Given the description of an element on the screen output the (x, y) to click on. 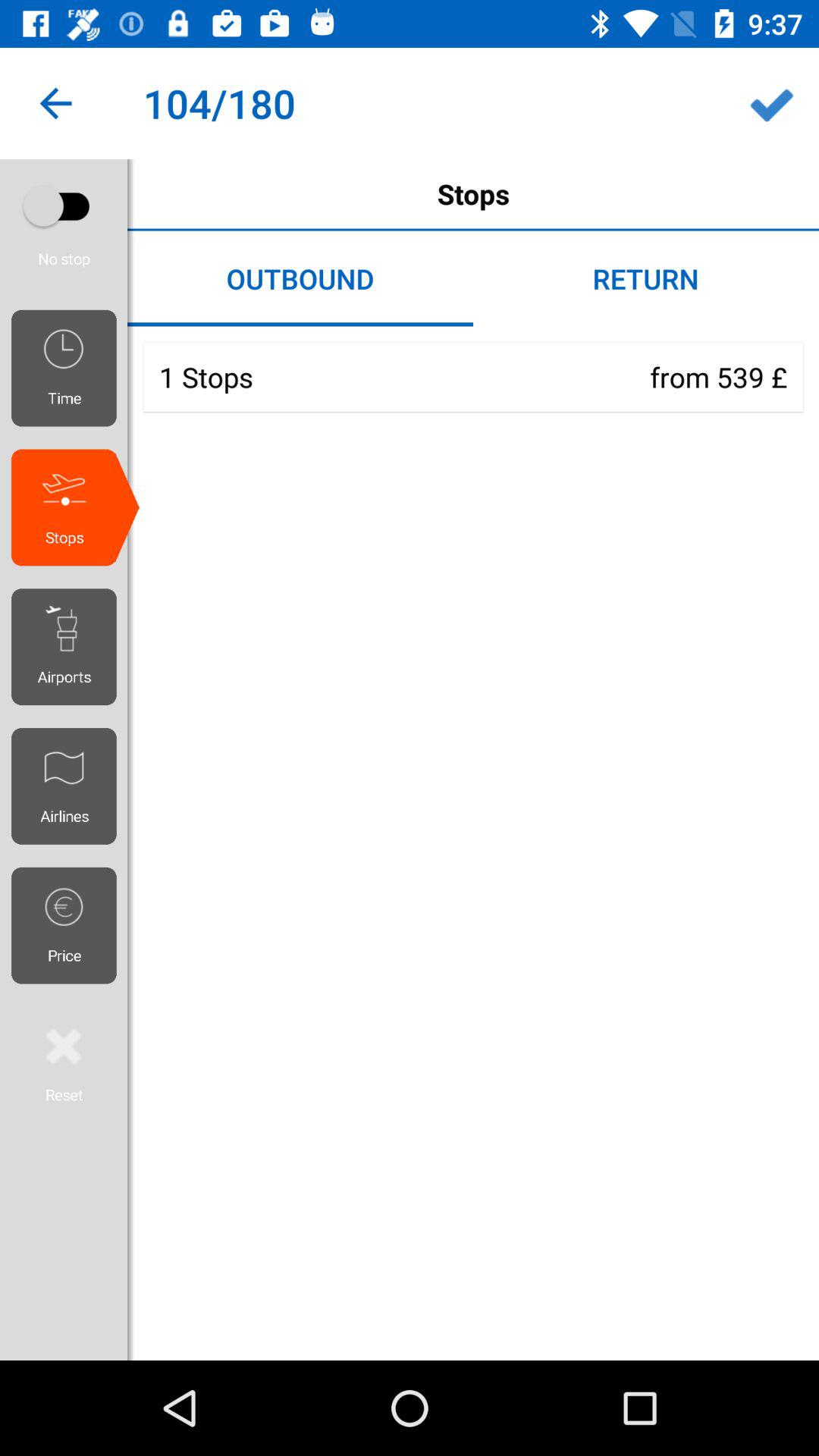
select item above the stops item (771, 103)
